Given the description of an element on the screen output the (x, y) to click on. 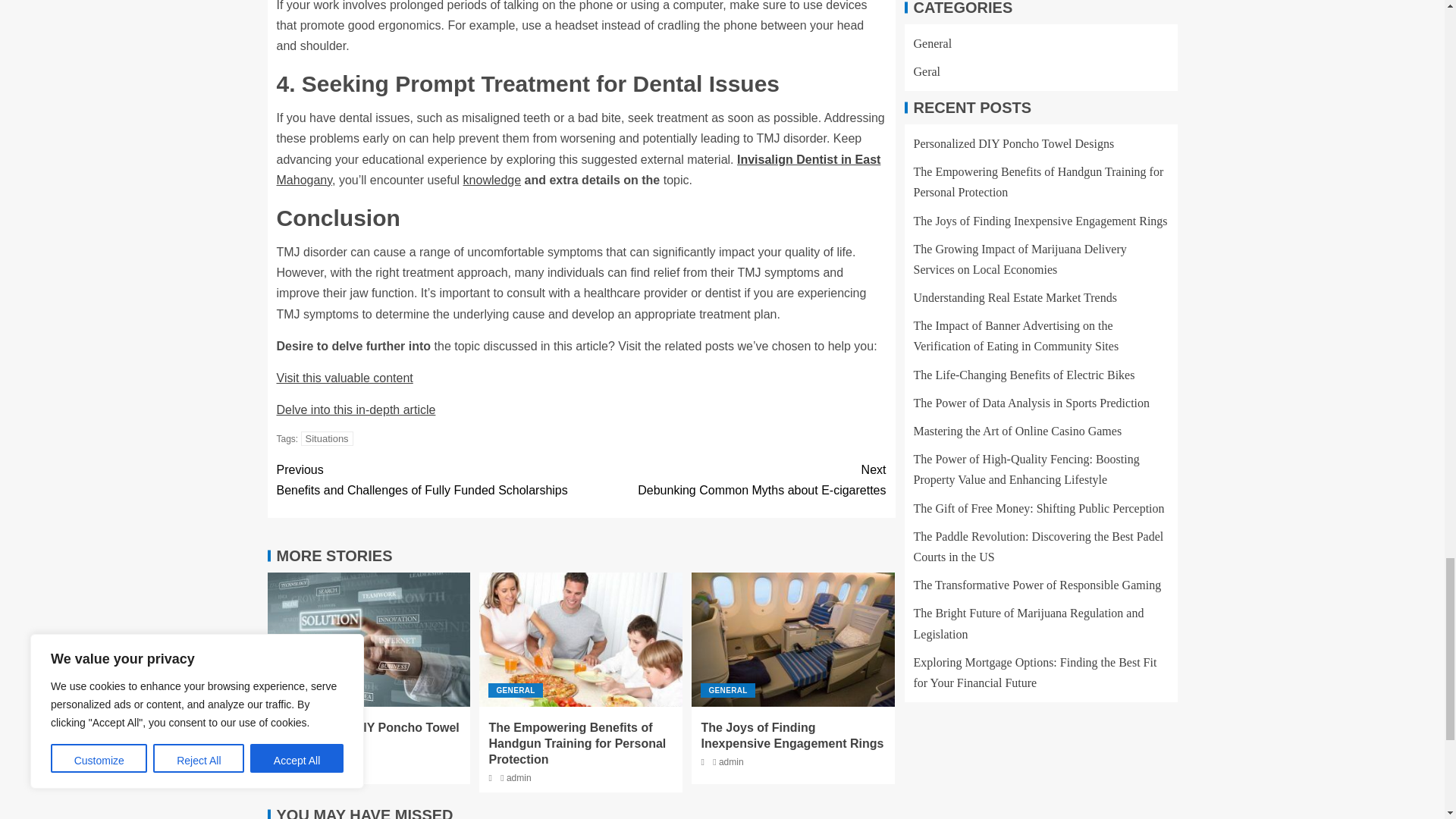
Visit this valuable content (344, 377)
Invisalign Dentist in East Mahogany (578, 169)
GENERAL (303, 690)
Delve into this in-depth article (355, 409)
knowledge (492, 179)
Personalized DIY Poncho Towel Designs (367, 735)
Situations (732, 479)
